Given the description of an element on the screen output the (x, y) to click on. 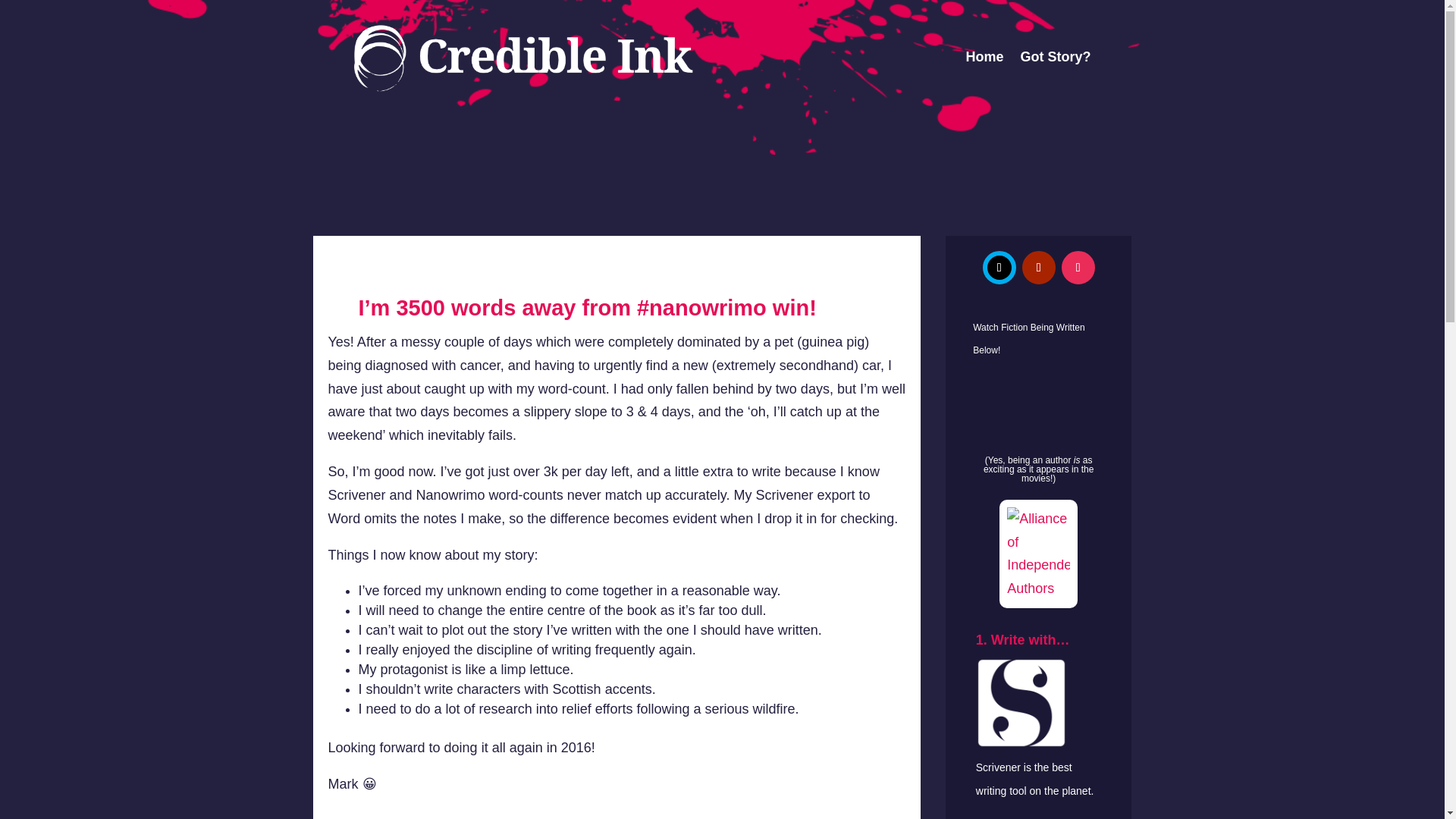
Follow on Youtube (1038, 267)
Follow on Instagram (1077, 267)
Scrivener (997, 767)
Outline to editing: A Writing Time lapse - z3pRv (1038, 410)
Got Story? (1055, 56)
Follow on X (999, 267)
